Given the description of an element on the screen output the (x, y) to click on. 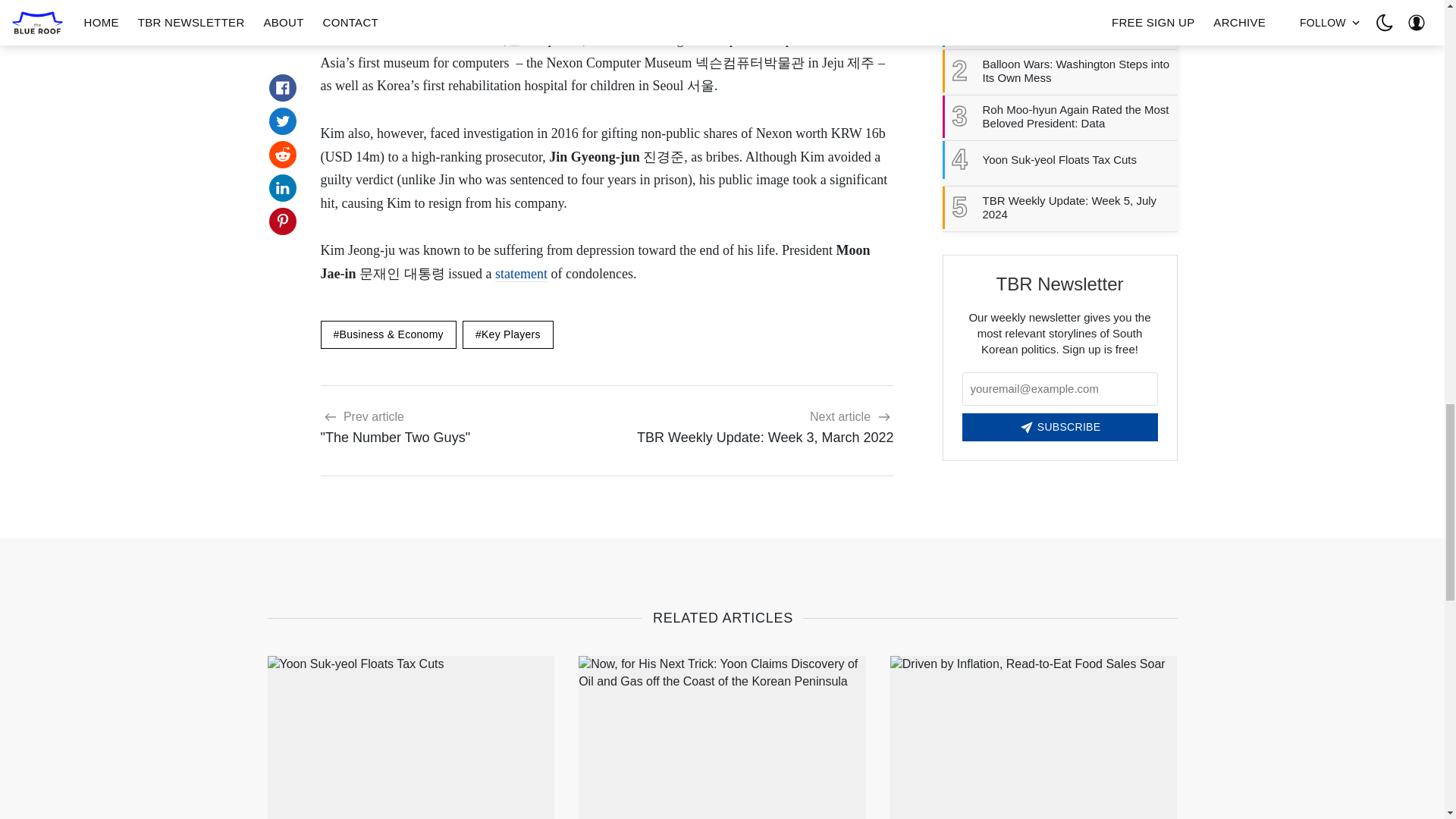
Key Players (457, 426)
admired (755, 426)
Key Players (508, 334)
statement (384, 17)
